Given the description of an element on the screen output the (x, y) to click on. 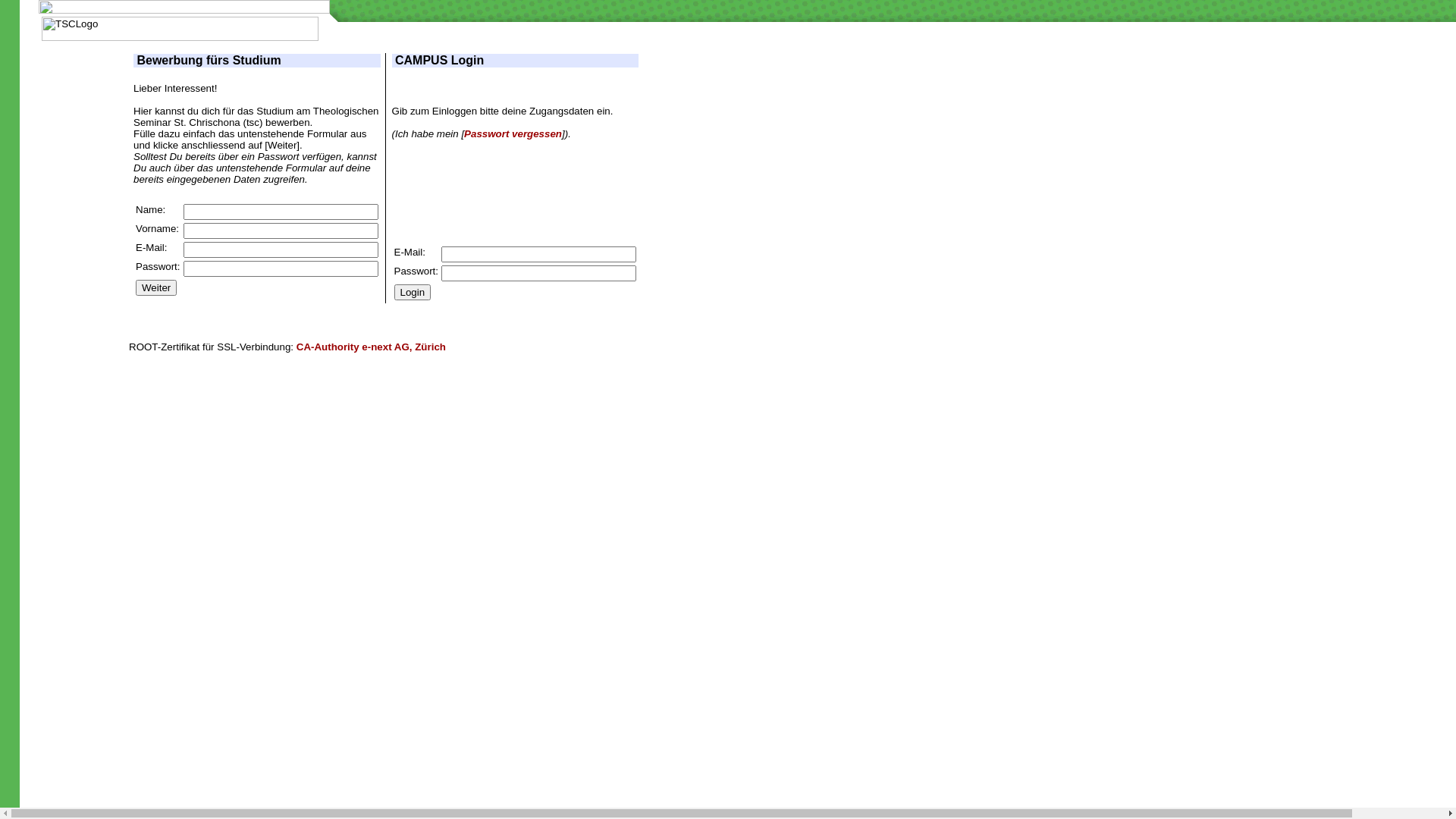
Weiter Element type: text (155, 287)
Login Element type: text (412, 292)
Passwort vergessen Element type: text (512, 133)
